Given the description of an element on the screen output the (x, y) to click on. 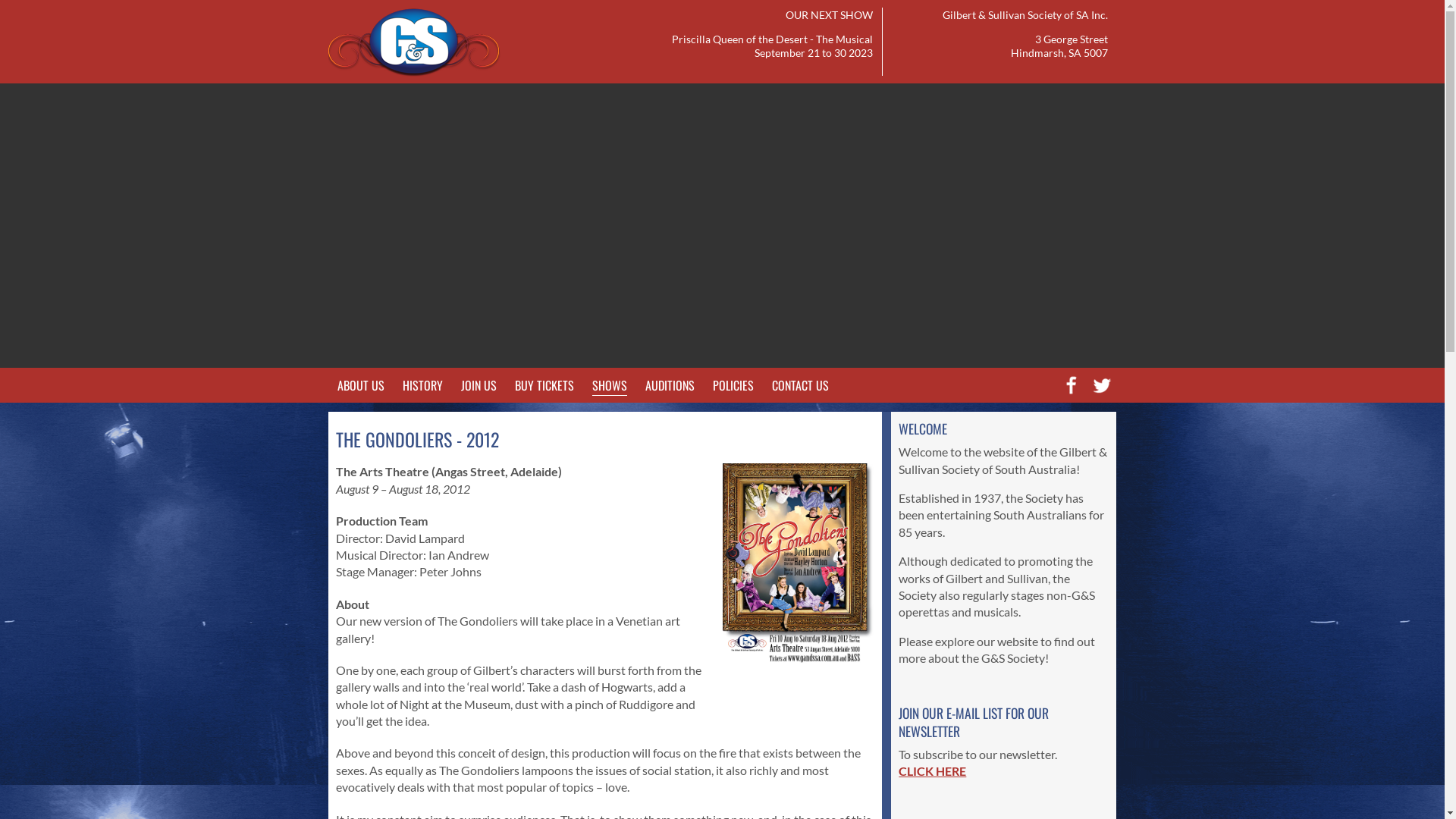
JOIN US Element type: text (478, 384)
SHOWS Element type: text (608, 381)
POLICIES Element type: text (732, 384)
CLICK HERE Element type: text (932, 770)
BUY TICKETS Element type: text (543, 384)
CONTACT US Element type: text (799, 384)
HISTORY Element type: text (421, 384)
ABOUT US Element type: text (359, 384)
AUDITIONS Element type: text (668, 384)
